Given the description of an element on the screen output the (x, y) to click on. 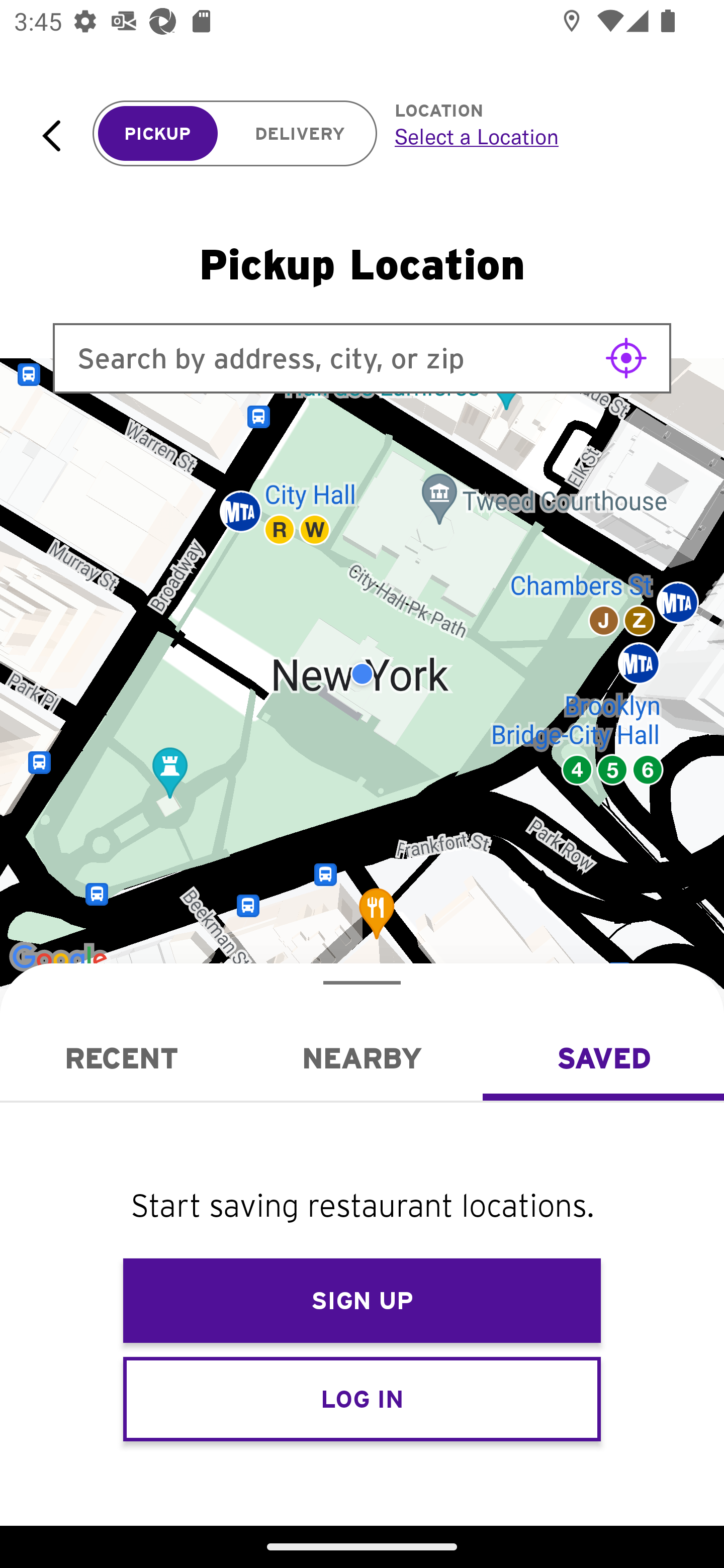
PICKUP (157, 133)
DELIVERY (299, 133)
Select a Location (536, 136)
Search by address, city, or zip (361, 358)
Google Map (362, 674)
Recent RECENT (120, 1058)
Nearby NEARBY (361, 1058)
SIGN UP (361, 1300)
LOG IN (361, 1398)
